Given the description of an element on the screen output the (x, y) to click on. 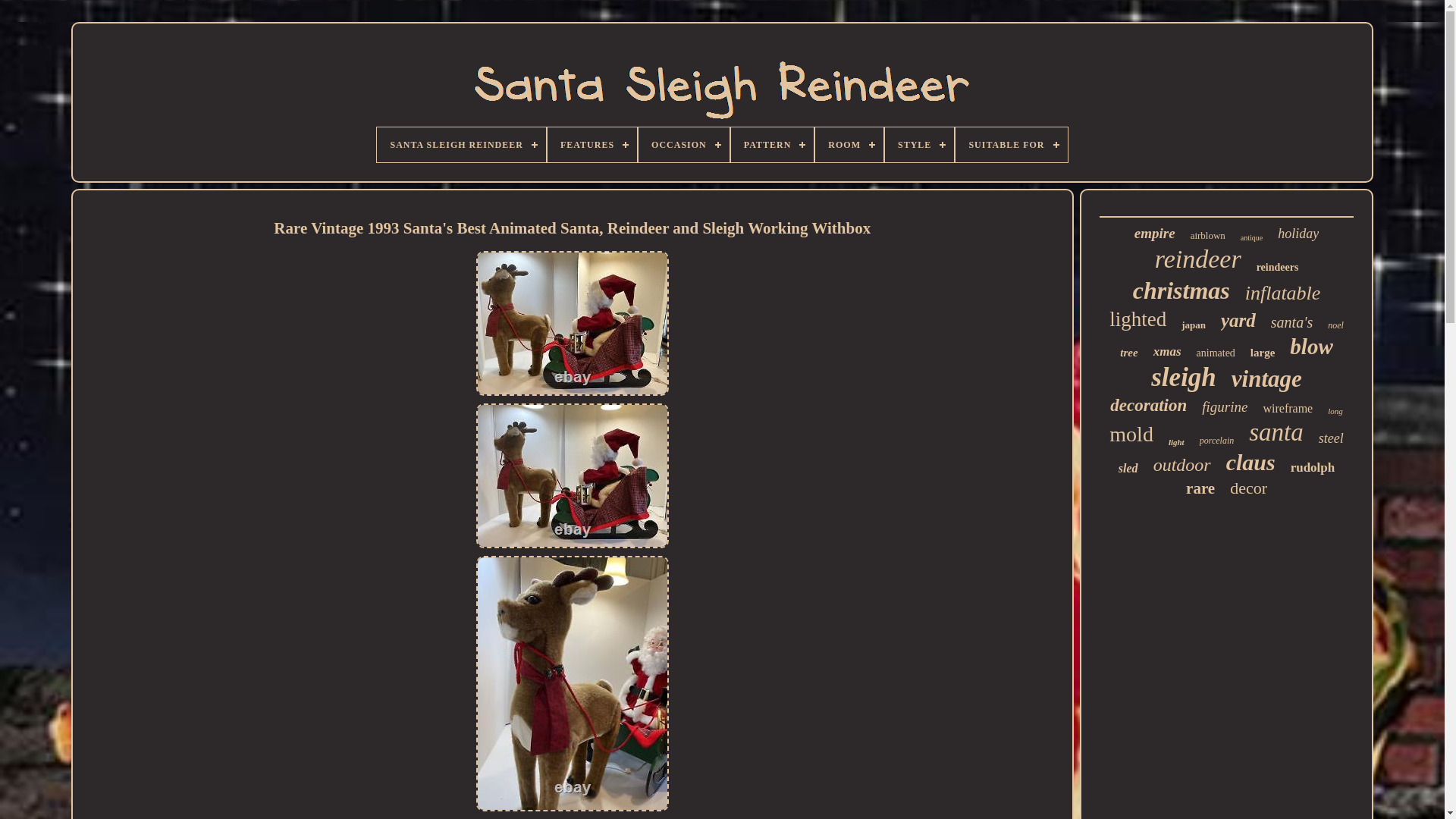
FEATURES (592, 144)
SANTA SLEIGH REINDEER (461, 144)
OCCASION (684, 144)
